Given the description of an element on the screen output the (x, y) to click on. 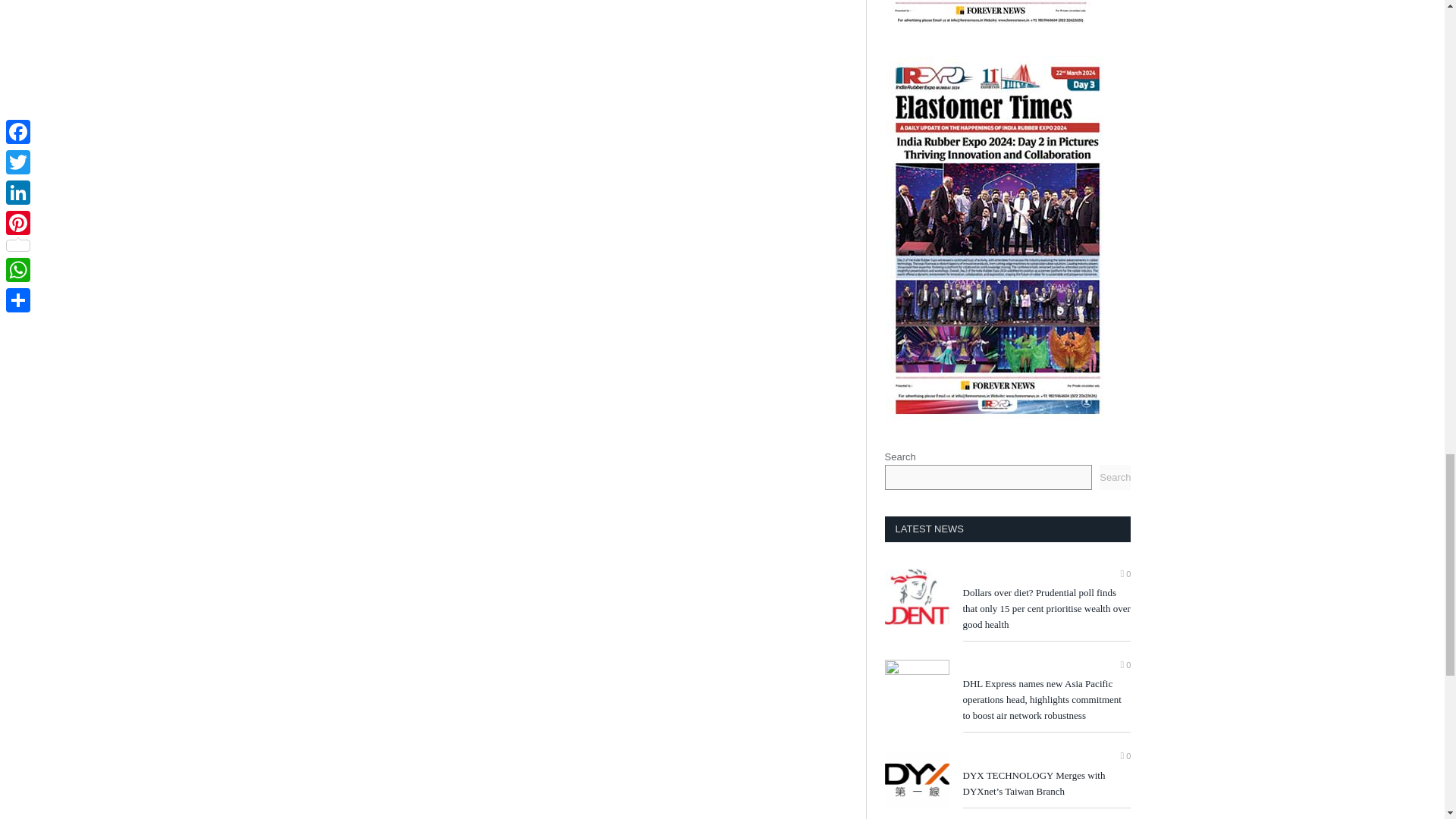
0 (1126, 573)
0 (1126, 664)
Search (1115, 477)
0 (1126, 755)
